Given the description of an element on the screen output the (x, y) to click on. 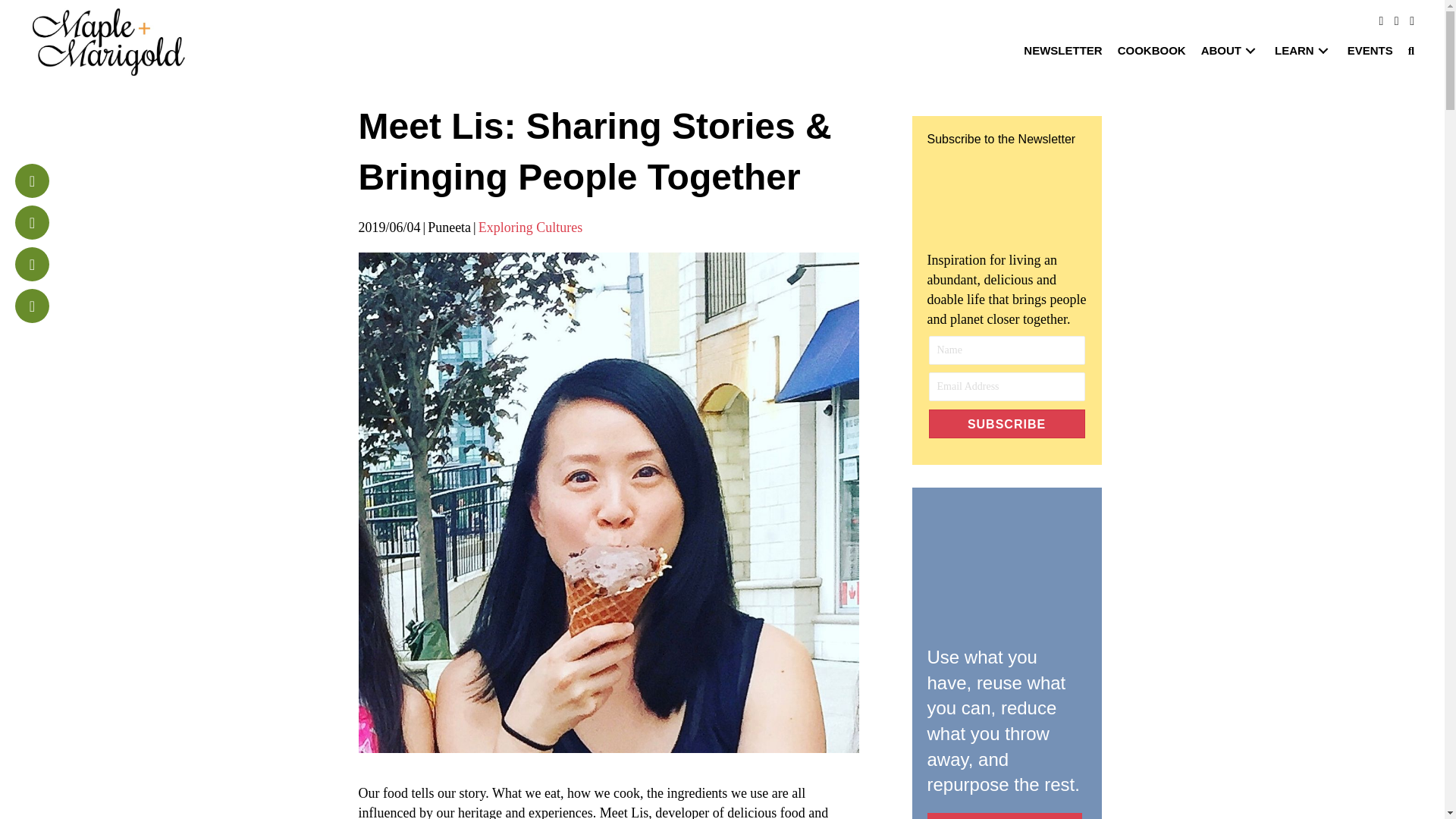
COOKBOOK (1151, 50)
EVENTS (1369, 50)
Maple-and-Marigold-Logo (109, 40)
LEARN (1302, 50)
ABOUT (1229, 50)
NEWSLETTER (1062, 50)
